Given the description of an element on the screen output the (x, y) to click on. 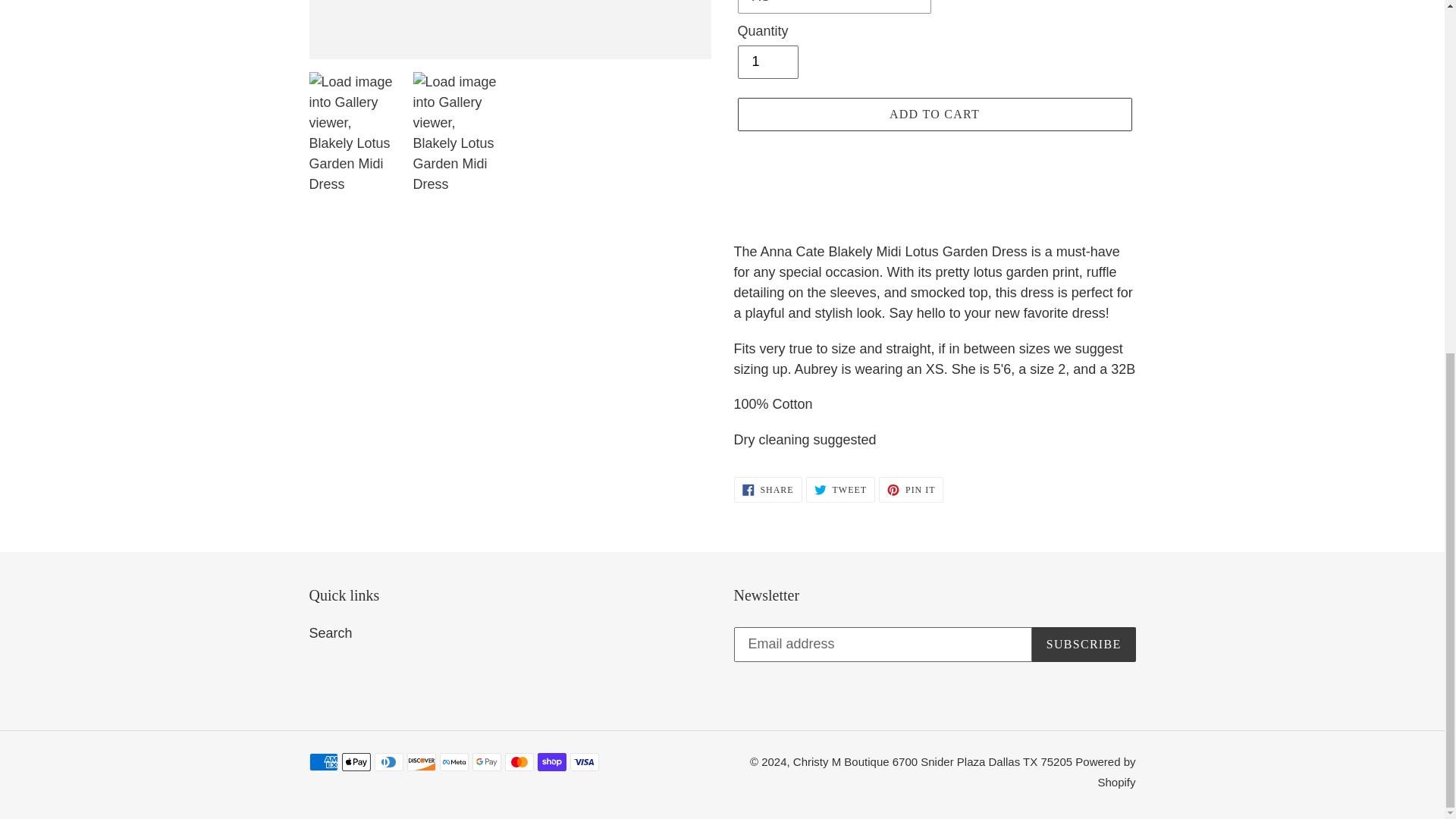
ADD TO CART (933, 114)
Christy M Boutique 6700 Snider Plaza Dallas TX 75205 (934, 761)
1 (767, 489)
Search (766, 61)
Powered by Shopify (330, 632)
SUBSCRIBE (840, 489)
